Given the description of an element on the screen output the (x, y) to click on. 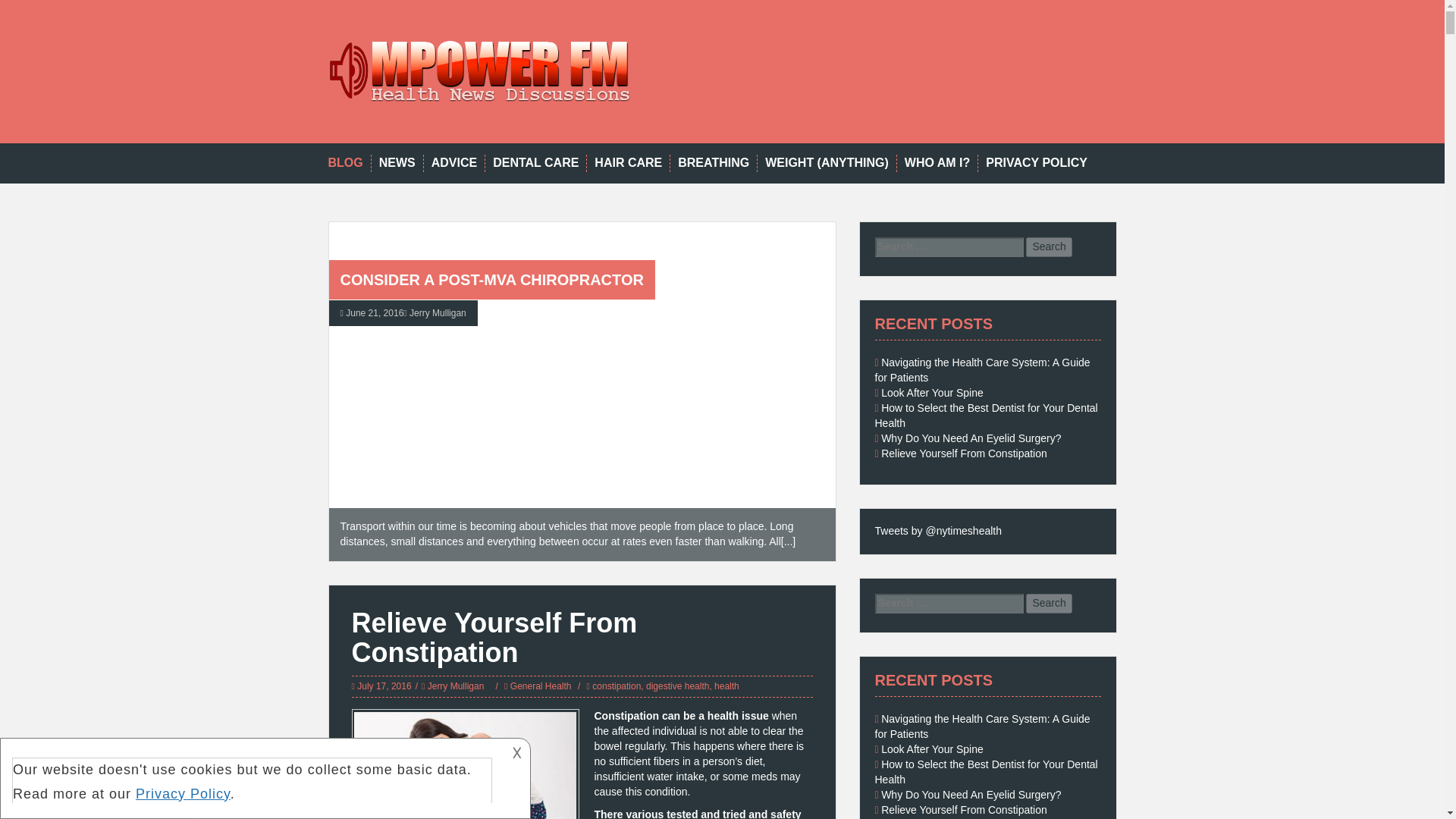
HAIR CARE (628, 162)
WHO AM I? (937, 162)
ADVICE (453, 162)
MP Power FM (478, 70)
constipation (616, 685)
PRIVACY POLICY (1036, 162)
DENTAL CARE (535, 162)
Search (1048, 247)
July 17, 2016 (383, 685)
NEWS (396, 162)
health (726, 685)
digestive health (677, 685)
Jerry Mulligan (456, 685)
June 21, 2016 (374, 312)
CONSIDER A POST-MVA CHIROPRACTOR (491, 279)
